Given the description of an element on the screen output the (x, y) to click on. 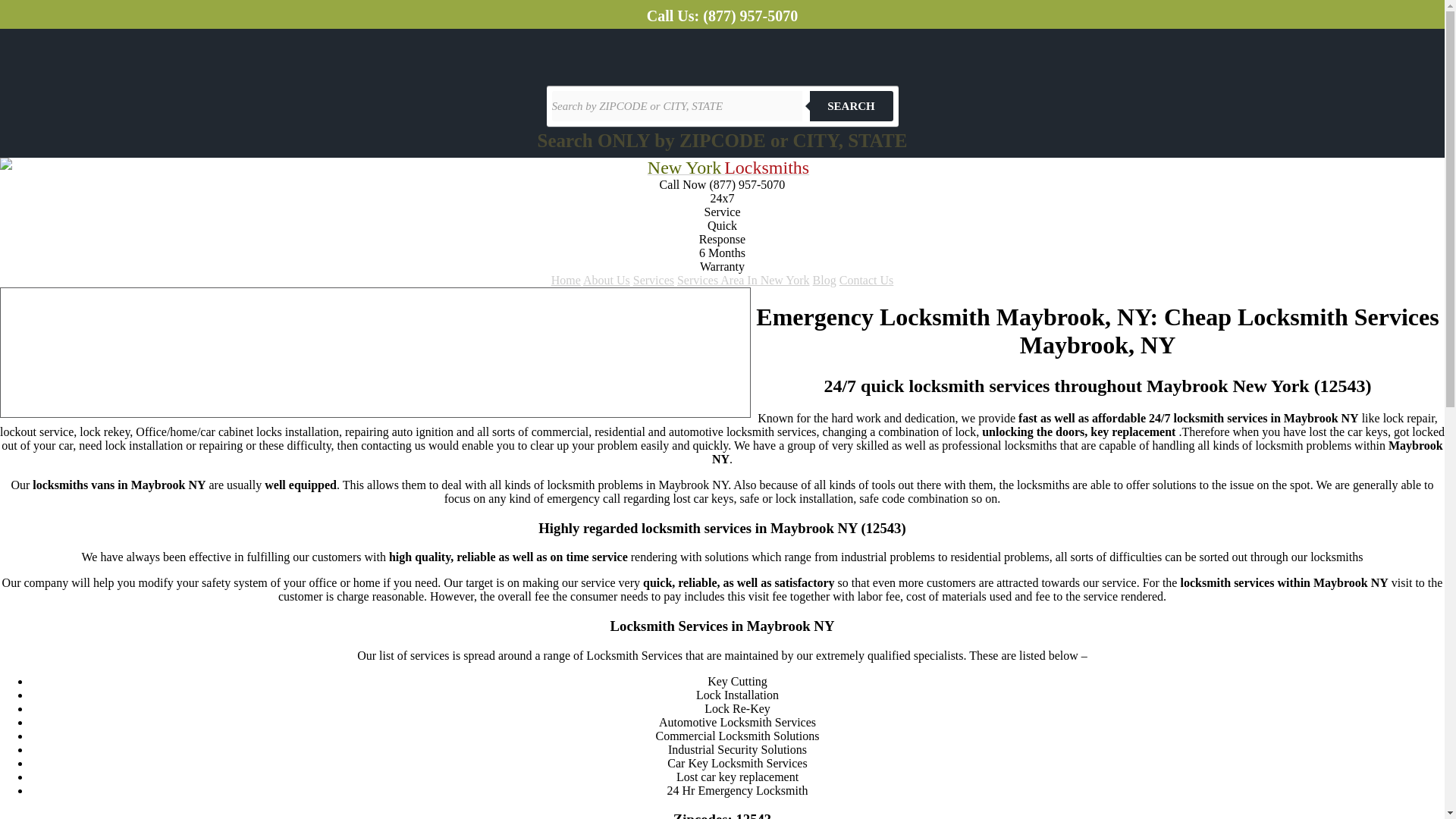
SEARCH (851, 105)
Home (565, 279)
Contact Us (866, 279)
About Us (606, 279)
Services Area In New York (743, 279)
Services (653, 279)
New York Locksmiths (728, 169)
Blog (823, 279)
